Given the description of an element on the screen output the (x, y) to click on. 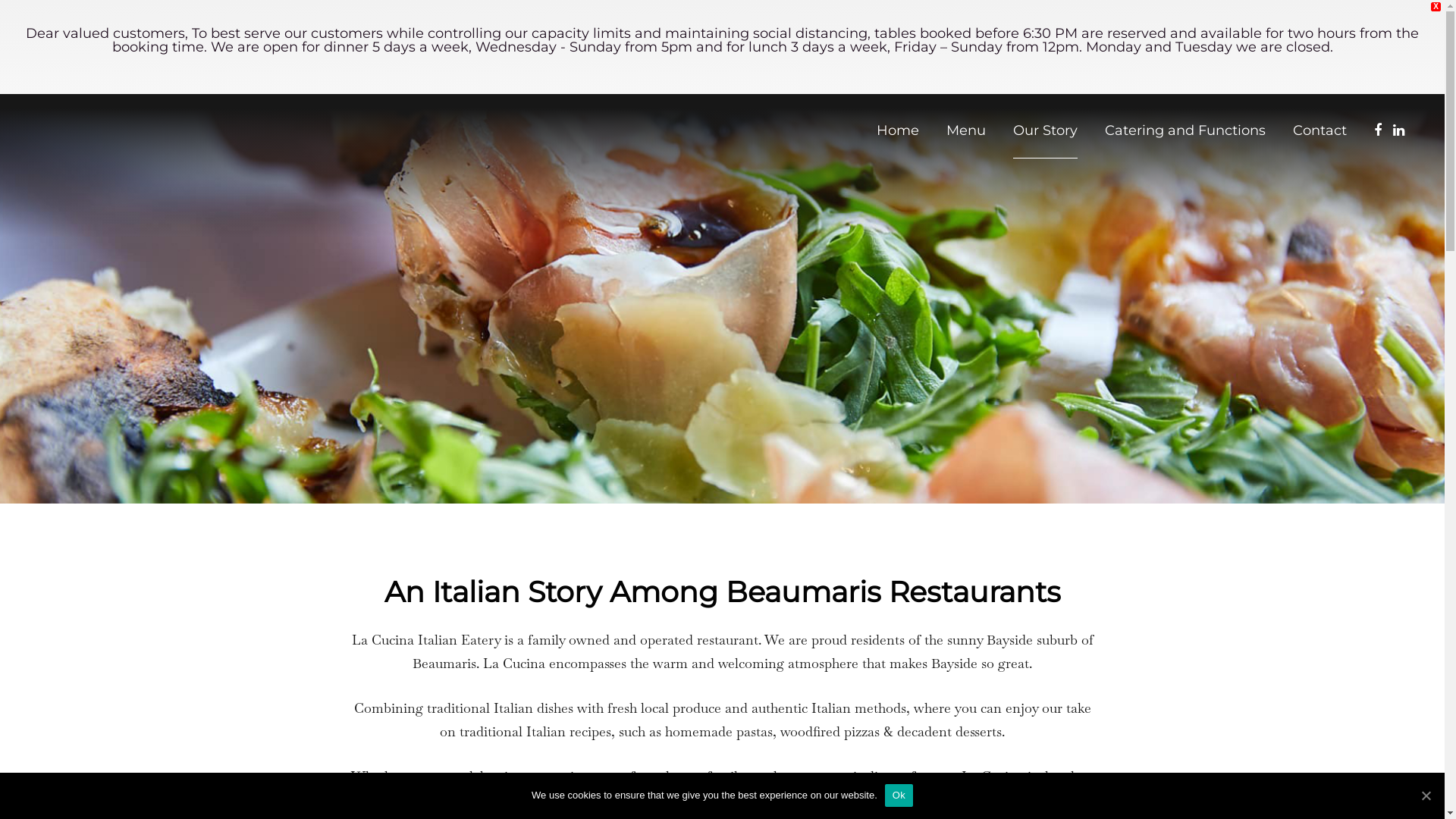
Our Story Element type: text (1045, 130)
Catering and Functions Element type: text (1185, 130)
Menu Element type: text (965, 130)
Ok Element type: text (898, 795)
Contact Element type: text (1319, 130)
Home Element type: text (897, 130)
